Given the description of an element on the screen output the (x, y) to click on. 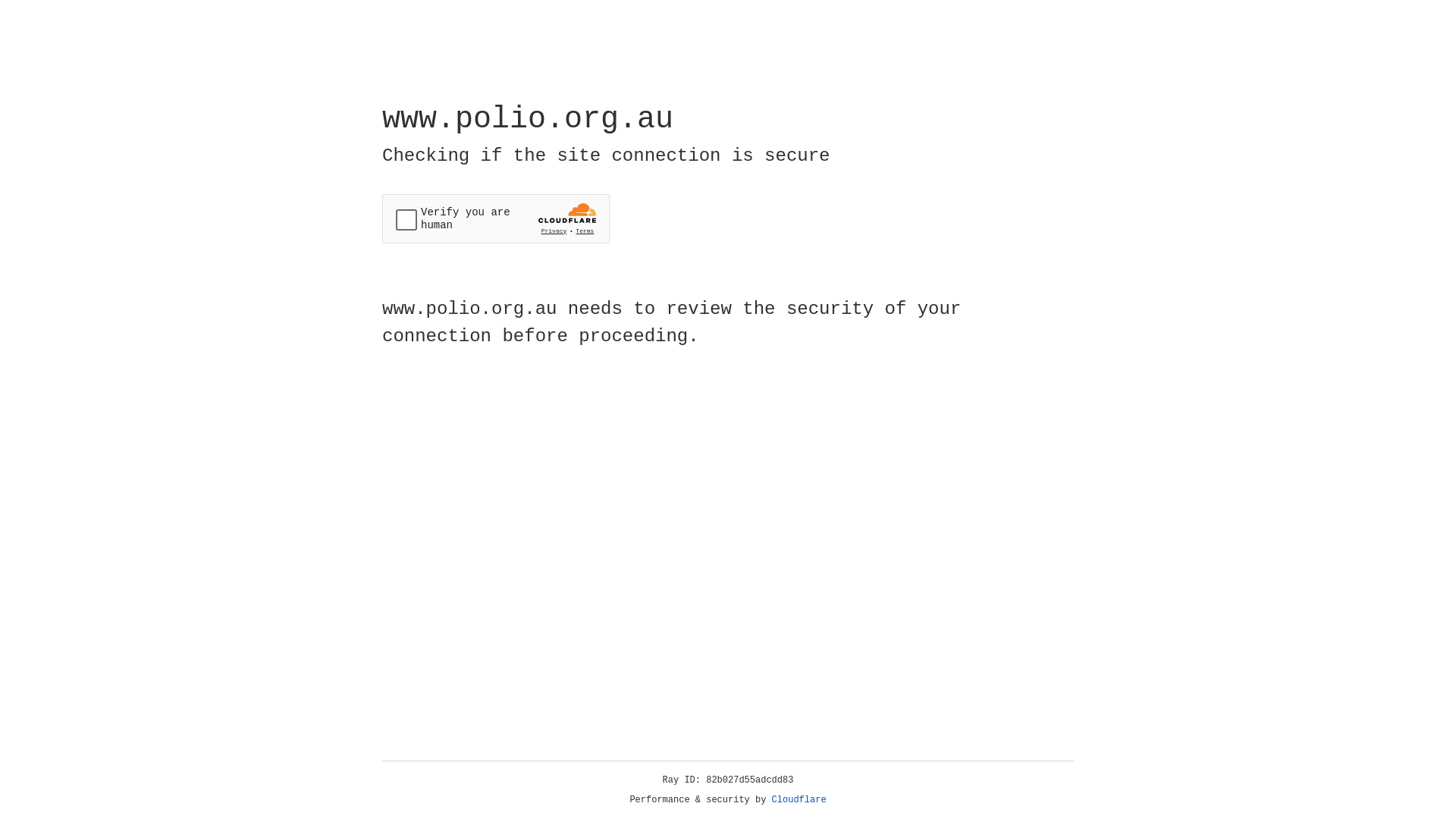
Widget containing a Cloudflare security challenge Element type: hover (495, 218)
Cloudflare Element type: text (798, 799)
